Given the description of an element on the screen output the (x, y) to click on. 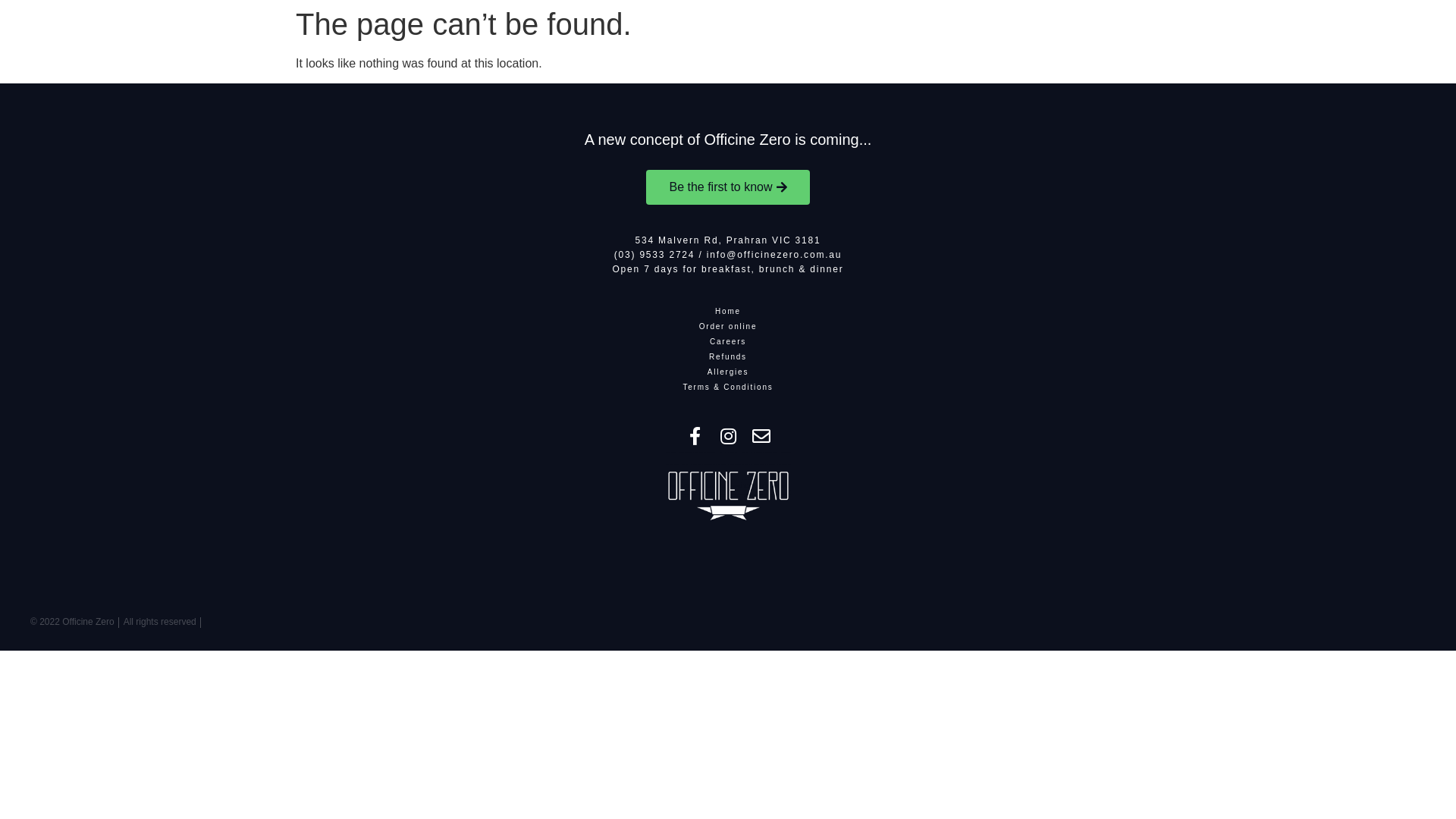
Be the first to know Element type: text (727, 186)
Order online Element type: text (727, 326)
Allergies Element type: text (727, 371)
Refunds Element type: text (727, 356)
Terms & Conditions Element type: text (727, 386)
Careers Element type: text (727, 341)
